Given the description of an element on the screen output the (x, y) to click on. 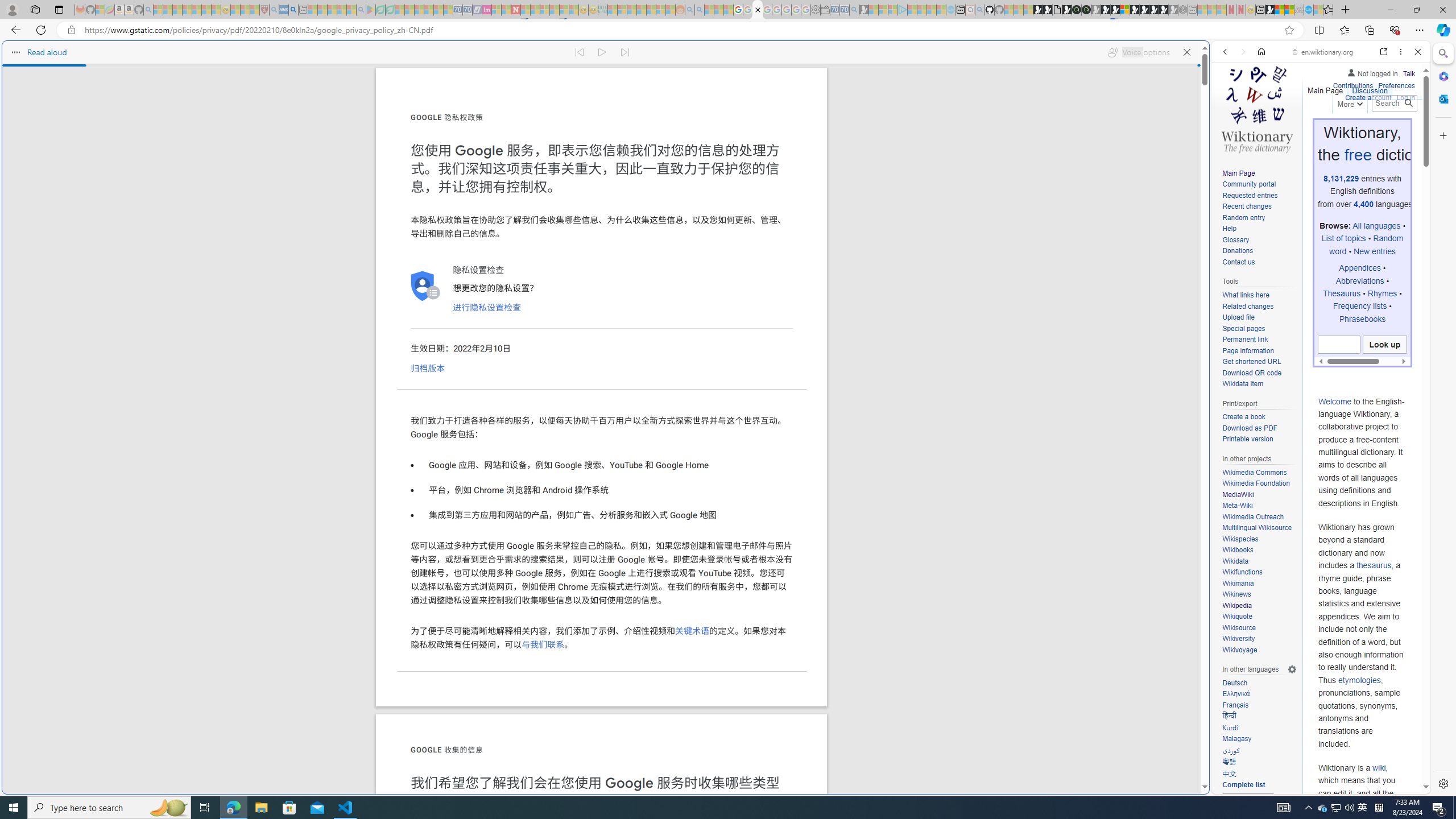
MSN (1269, 9)
Glossary (1259, 240)
github - Search - Sleeping (979, 9)
Microsoft-Report a Concern to Bing - Sleeping (99, 9)
Jobs - lastminute.com Investor Portal - Sleeping (486, 9)
More (1349, 101)
Bluey: Let's Play! - Apps on Google Play - Sleeping (370, 9)
Services - Maintenance | Sky Blue Bikes - Sky Blue Bikes (1307, 9)
Special pages (1259, 328)
